Given the description of an element on the screen output the (x, y) to click on. 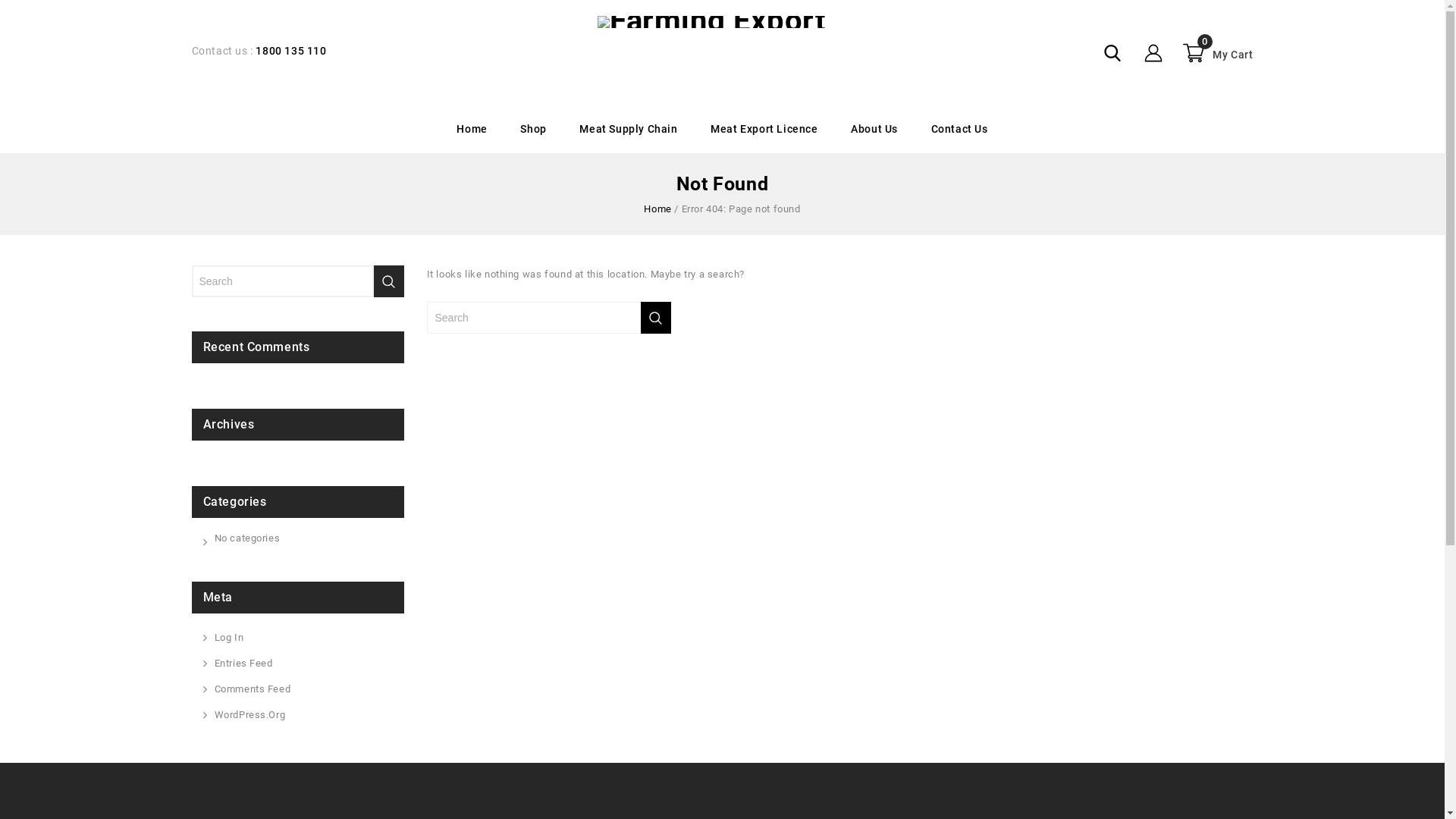
My Cart
0 Element type: text (1215, 52)
Comments Feed Element type: text (251, 689)
Farming Export: Australian Meat Exporters, Beef, Lamb, Goat Element type: hover (711, 21)
Shop Element type: text (533, 129)
Go Element type: text (655, 317)
WordPress.Org Element type: text (249, 715)
Entries Feed Element type: text (242, 663)
Meat Export Licence Element type: text (763, 129)
Log In Element type: text (228, 637)
About Us Element type: text (874, 129)
Meat Supply Chain Element type: text (628, 129)
Home Element type: text (657, 208)
Home Element type: text (471, 129)
Go Element type: text (388, 281)
Contact Us Element type: text (959, 129)
